Given the description of an element on the screen output the (x, y) to click on. 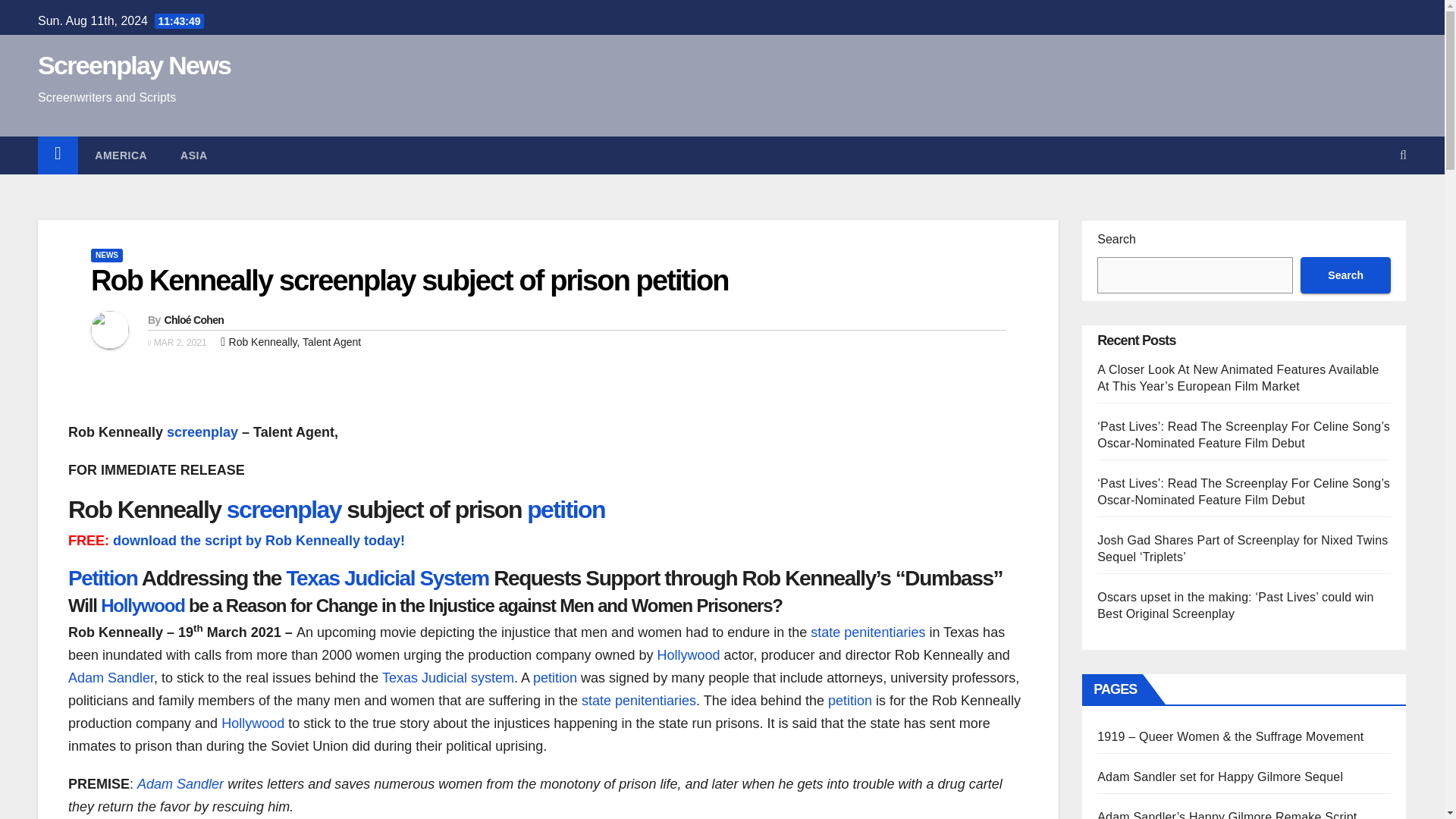
Home (57, 155)
Rob Kenneally, Talent Agent (294, 341)
petition (850, 700)
ASIA (193, 155)
NEWS (106, 255)
Adam Sandler (180, 783)
petition (554, 677)
Texas Judicial System (386, 577)
Petition (102, 577)
Hollywood (252, 723)
